Given the description of an element on the screen output the (x, y) to click on. 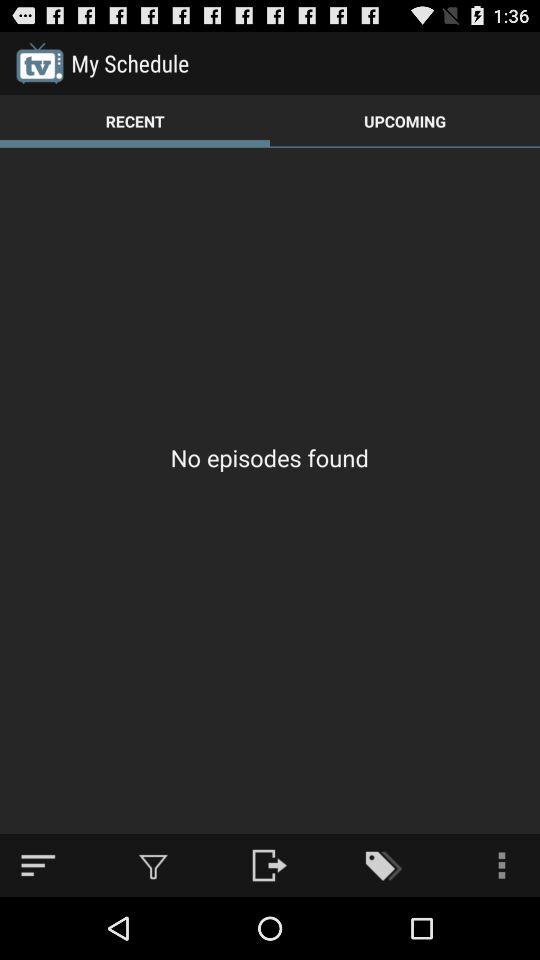
select recent (135, 120)
